Given the description of an element on the screen output the (x, y) to click on. 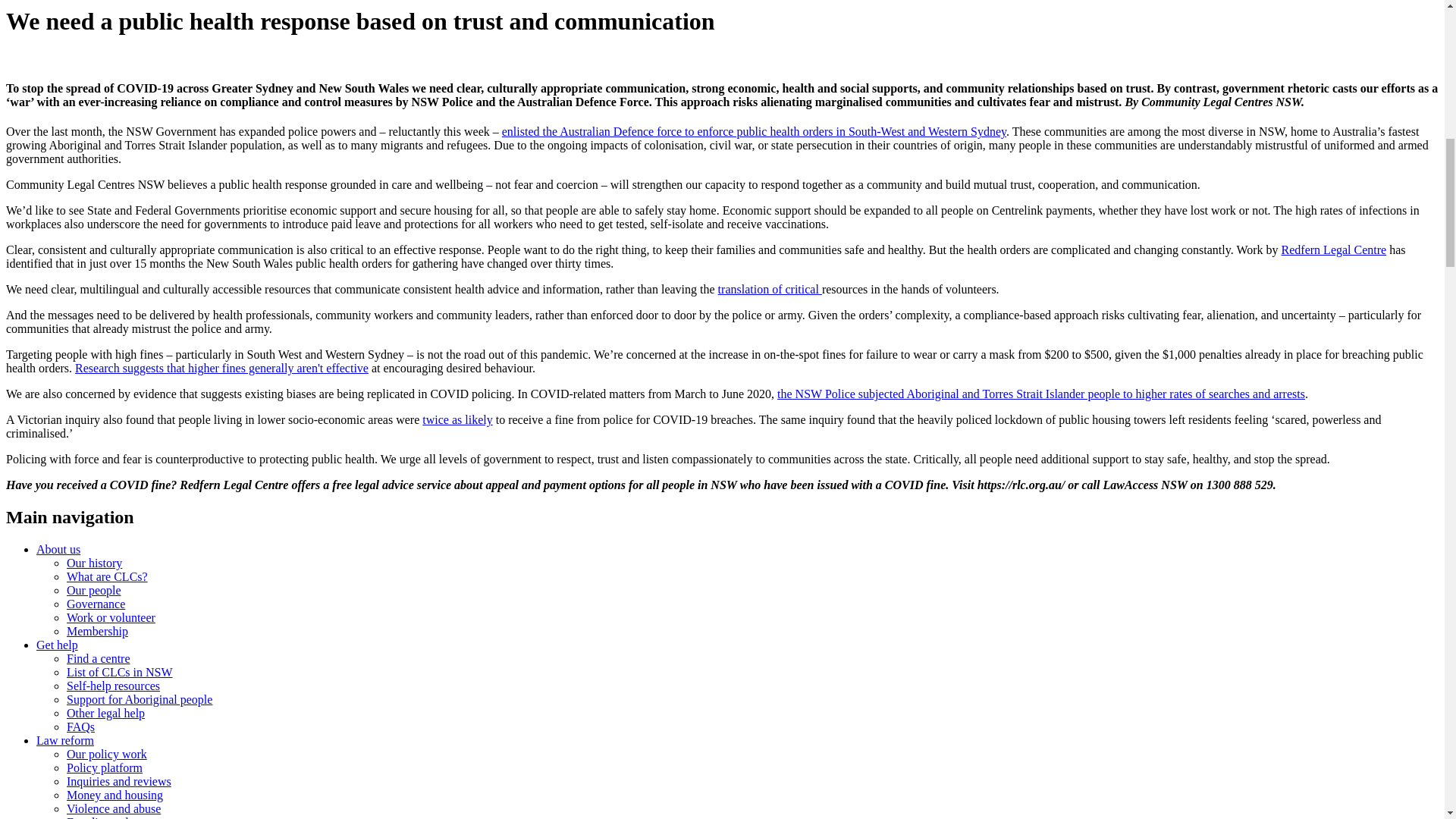
Find legal help (57, 644)
History of community legal centres in NSW (94, 562)
Find legal help - for Aboriginal people (139, 698)
Frequently asked questions (80, 726)
About Community Legal Centres NSW (58, 549)
